Given the description of an element on the screen output the (x, y) to click on. 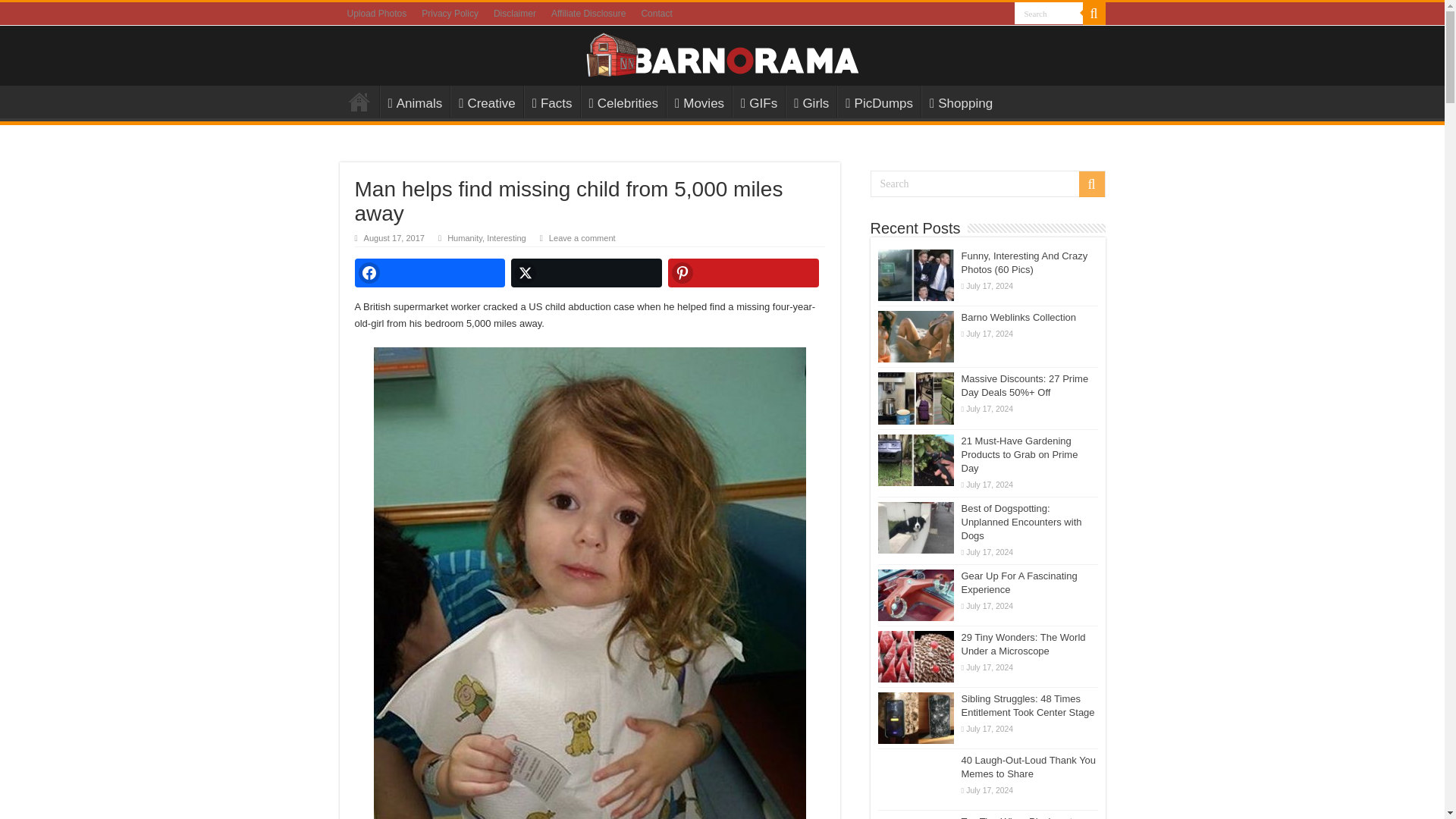
Search (1048, 13)
Search (1048, 13)
Share on Facebook (430, 272)
Search (1048, 13)
Search (987, 183)
Upload Photos (376, 13)
Share on Pinterest (743, 272)
Home (358, 101)
Share on Twitter (586, 272)
Barnorama (722, 51)
Privacy Policy (449, 13)
